Given the description of an element on the screen output the (x, y) to click on. 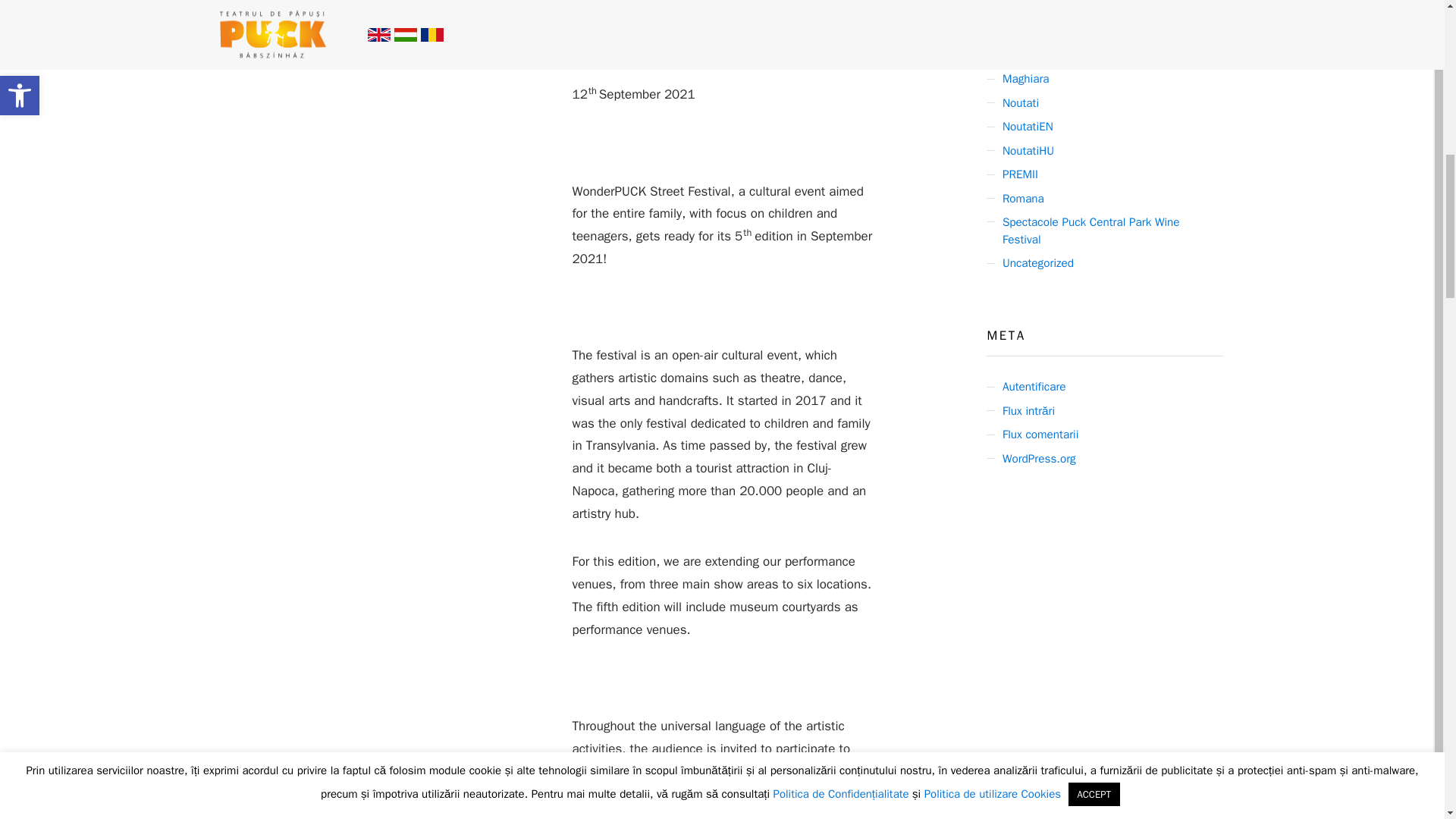
NoutatiEN (1027, 126)
Engleza (1022, 55)
Maghiara (1026, 78)
Noutati (1021, 103)
Arhiva (1017, 31)
PREMII (1020, 174)
Spectacole Puck Central Park Wine Festival (1110, 230)
Uncategorized (1038, 262)
NoutatiHU (1028, 150)
Autentificare (1034, 386)
Archivum (1025, 8)
Romana (1023, 199)
